Given the description of an element on the screen output the (x, y) to click on. 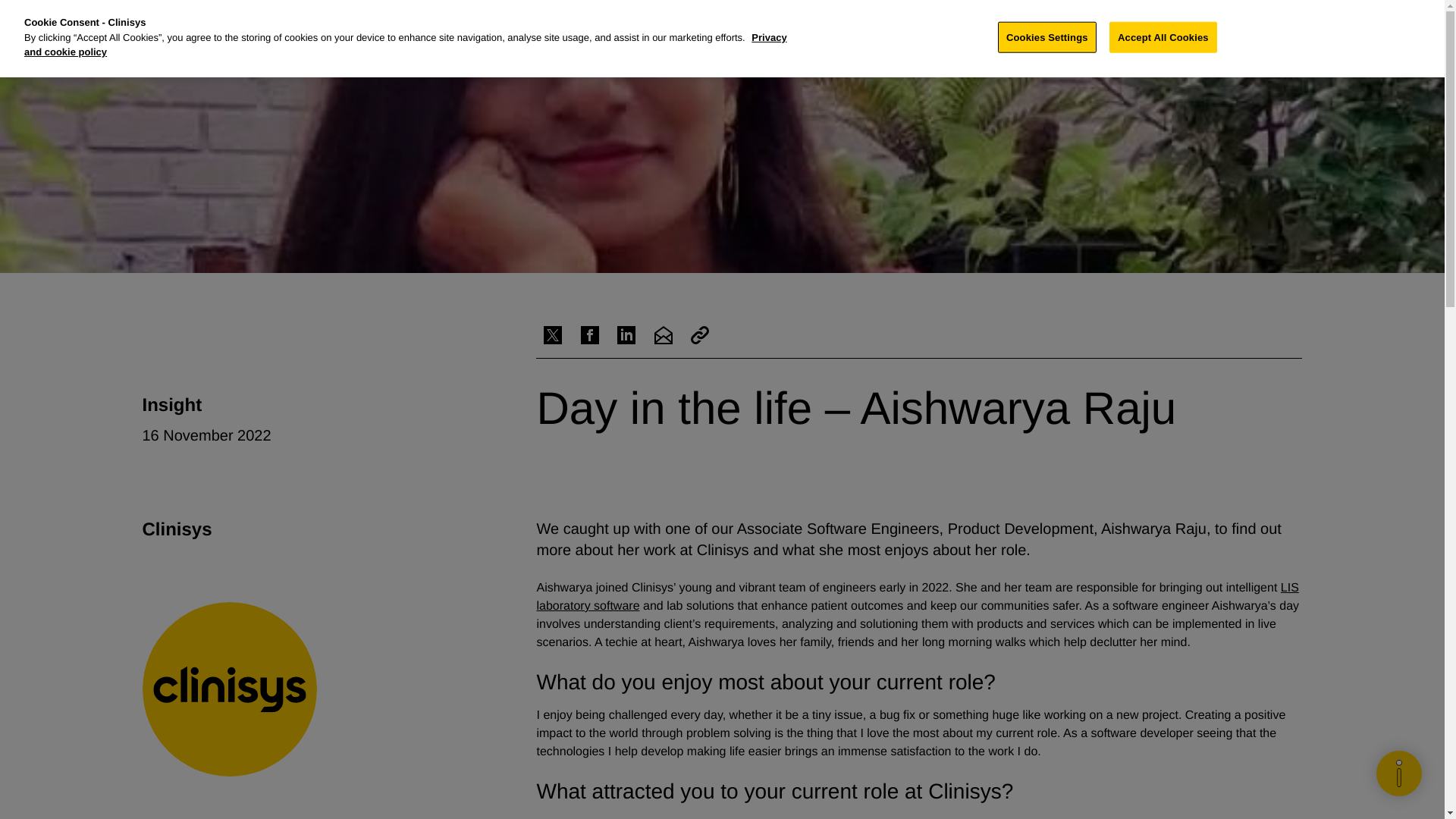
Platform (728, 22)
Solutions (658, 22)
Share on Facebook (590, 335)
Share on Linkedin (626, 335)
Copy link (699, 335)
Share via email (662, 335)
Share on Twitter (552, 335)
